Given the description of an element on the screen output the (x, y) to click on. 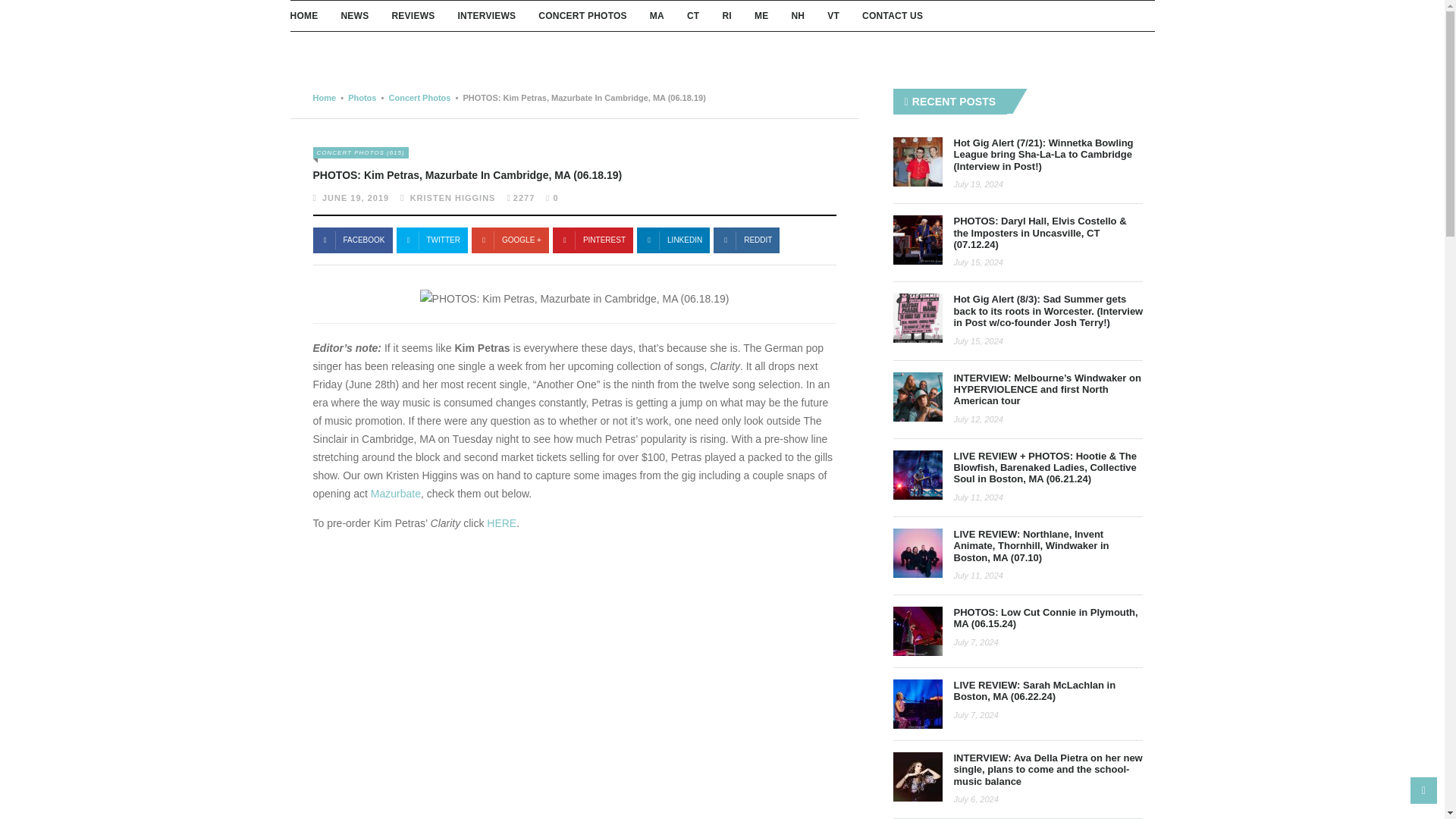
JUNE 19, 2019 (354, 197)
Share on Linkedin (745, 240)
FACEBOOK (352, 240)
Home (324, 97)
Share on Twitter (431, 240)
Share on Google Plus (509, 240)
HERE (501, 522)
View all posts by Kristen Higgins (453, 197)
Share on Facebook (352, 240)
HOME (303, 15)
Share on Reddit (673, 240)
KRISTEN HIGGINS (453, 197)
Mazurbate (395, 493)
CONTACT US (892, 15)
REVIEWS (412, 15)
